Given the description of an element on the screen output the (x, y) to click on. 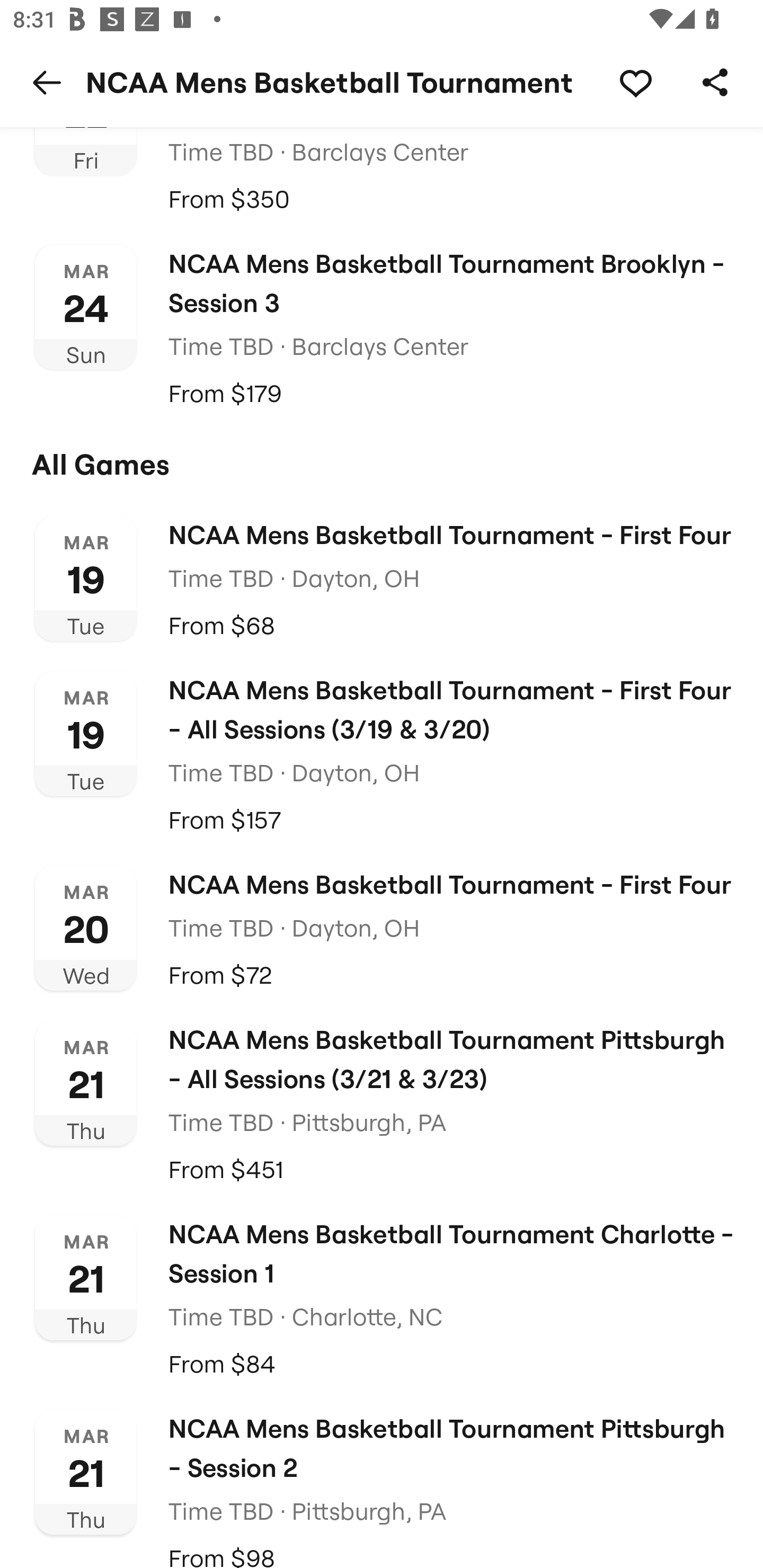
Back (47, 81)
Track this performer (635, 81)
Share this performer (715, 81)
